Given the description of an element on the screen output the (x, y) to click on. 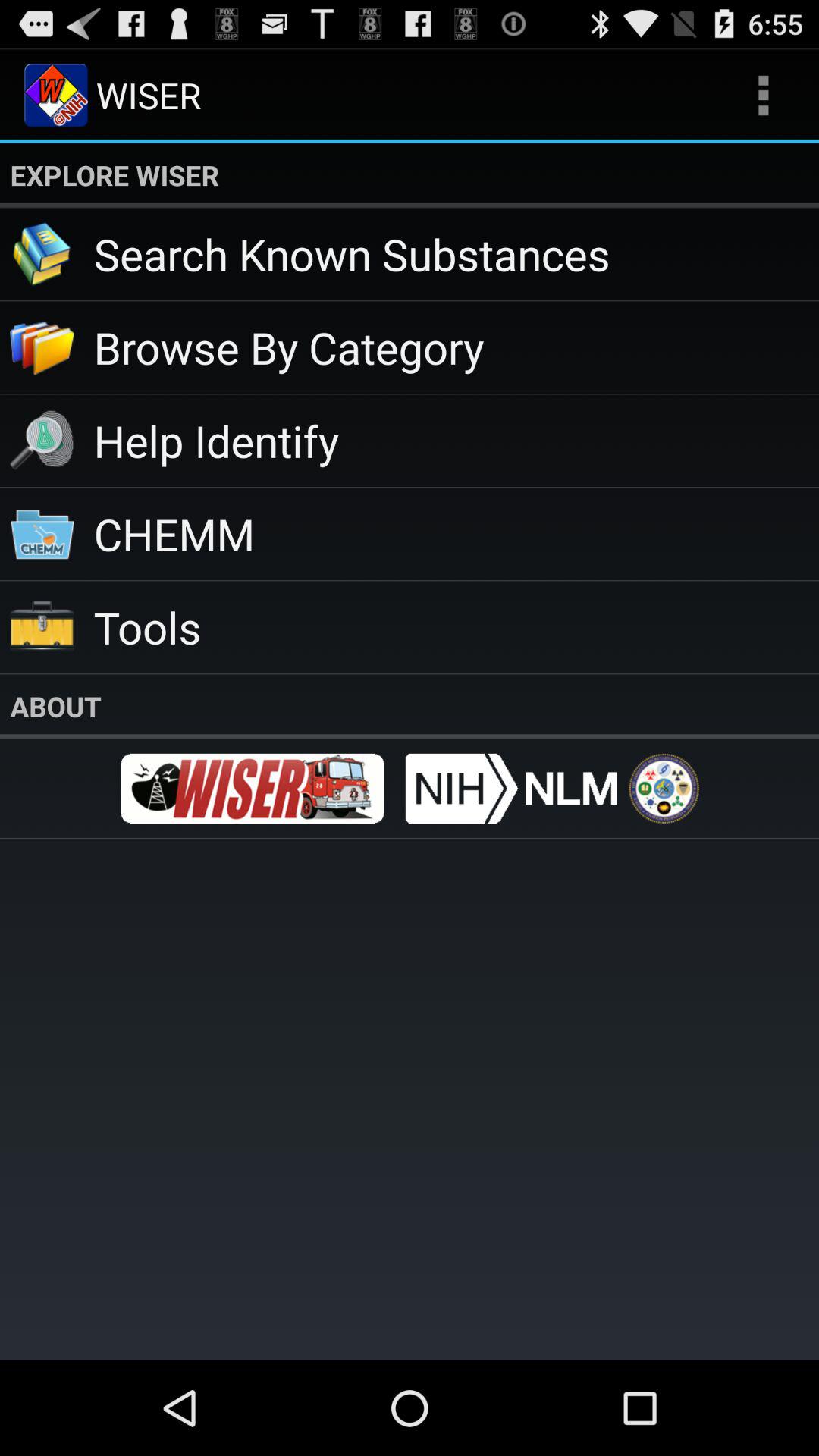
tap item below chemm icon (456, 626)
